Given the description of an element on the screen output the (x, y) to click on. 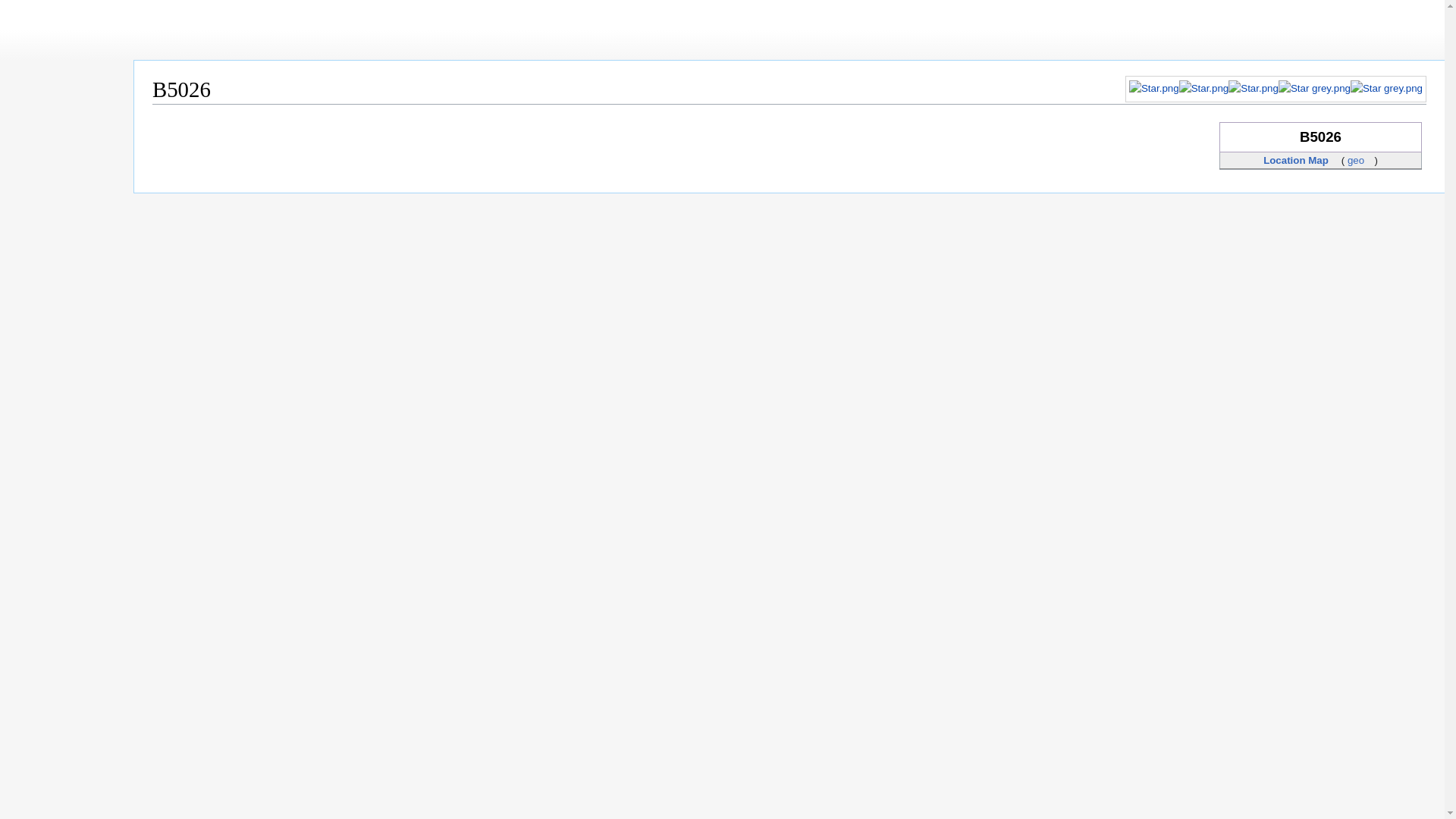
Wiki:Article Rating (1203, 87)
Wiki:Article Rating (1275, 89)
Wiki:Article Rating (1154, 87)
Location Map (1300, 160)
geo (1361, 160)
Wiki:Article Rating (1314, 87)
Wiki:Article Rating (1386, 87)
Wiki:Article Rating (1253, 87)
